Given the description of an element on the screen output the (x, y) to click on. 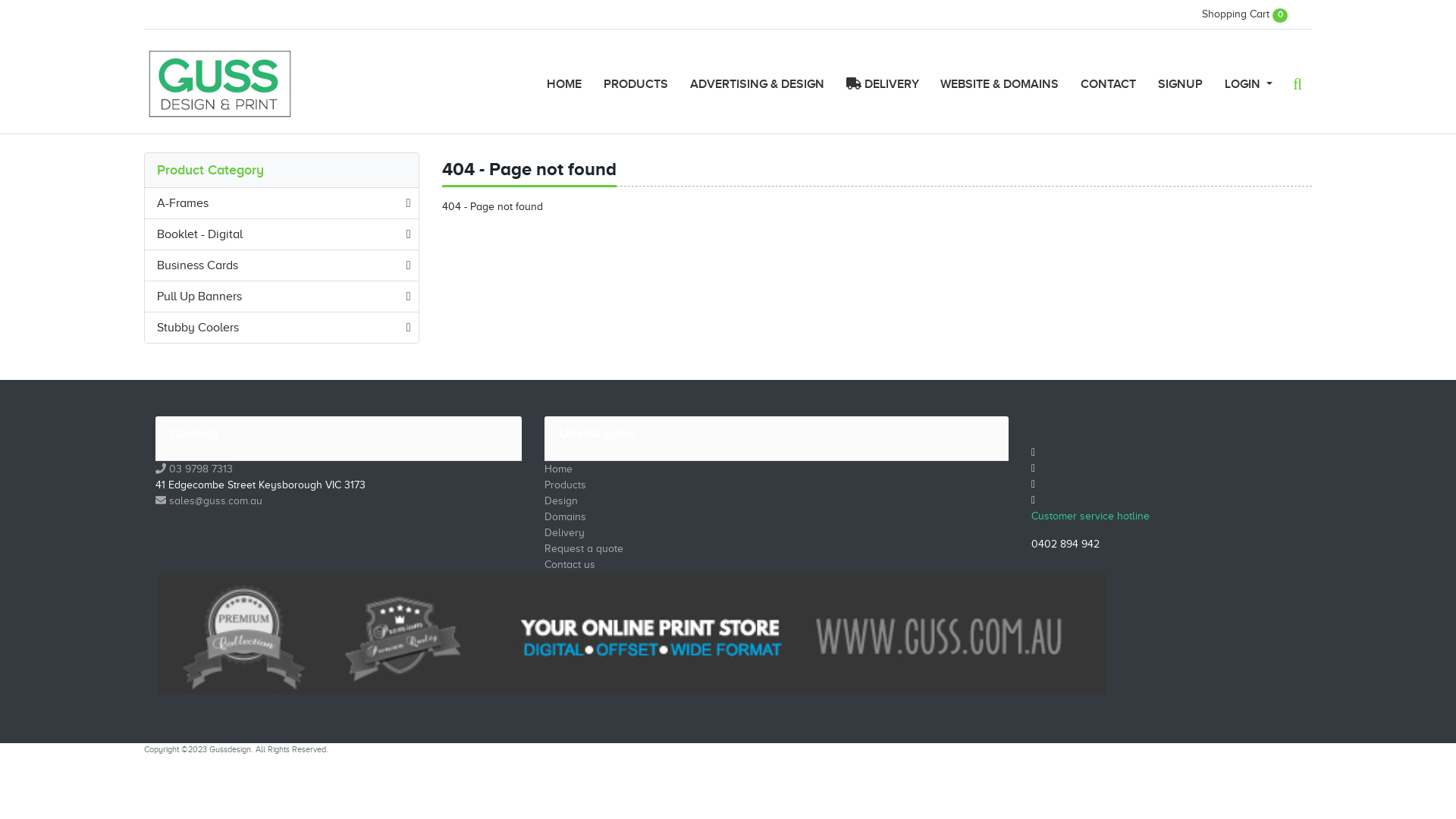
HOME Element type: text (564, 84)
s Element type: text (164, 500)
D Element type: text (548, 500)
LOGIN Element type: text (1248, 84)
R Element type: text (547, 548)
ADVERTISING & DESIGN Element type: text (756, 84)
Stubby Coolers Element type: text (281, 327)
<i class='fal fa-unlock pr-1'></i> Login Element type: text (1253, 112)
PRODUCTS Element type: text (636, 84)
Home Element type: text (558, 468)
Products Element type: text (565, 484)
Shopping Cart 0 Element type: text (1244, 13)
0402 894 942 Element type: text (1065, 543)
D Element type: text (548, 516)
D Element type: text (548, 532)
Pull Up Banners Element type: text (281, 296)
DELIVERY Element type: text (881, 84)
esign Element type: text (564, 500)
equest a quote Element type: text (587, 548)
0 Element type: text (165, 468)
Booklet - Digital Element type: text (281, 234)
Business Cards Element type: text (281, 265)
SIGNUP Element type: text (1179, 84)
WEBSITE & DOMAINS Element type: text (999, 84)
omains Element type: text (569, 516)
Contact us Element type: text (569, 564)
CONTACT Element type: text (1108, 84)
A-Frames Element type: text (281, 203)
elivery Element type: text (568, 532)
